Given the description of an element on the screen output the (x, y) to click on. 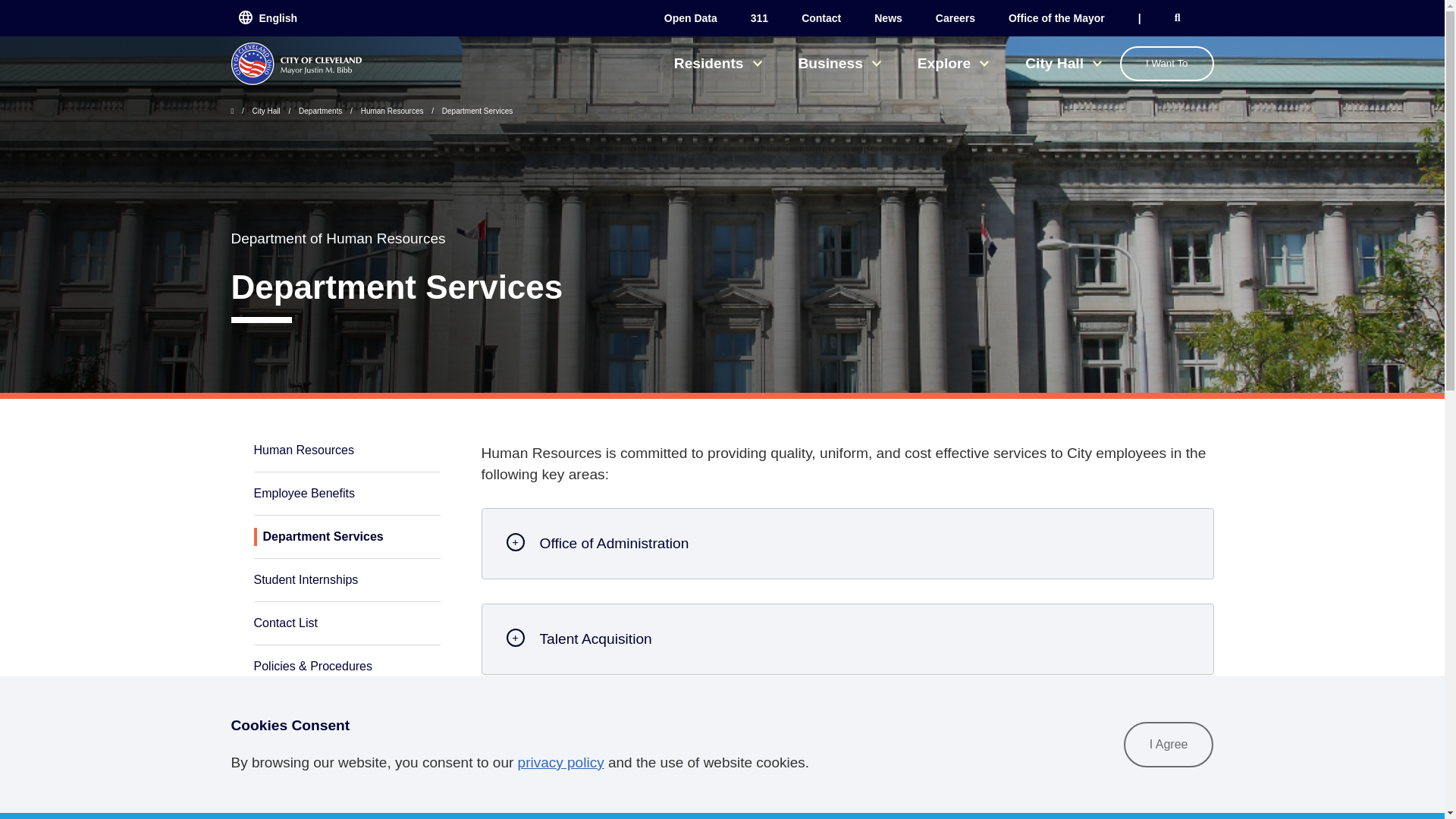
News (888, 17)
News (888, 17)
Home (295, 63)
Office of the Mayor (1057, 17)
Contact (821, 17)
Residents (717, 63)
Contact (821, 17)
Residents (717, 63)
Careers (955, 17)
Careers (955, 17)
Events (1057, 17)
Open Data (690, 17)
